Given the description of an element on the screen output the (x, y) to click on. 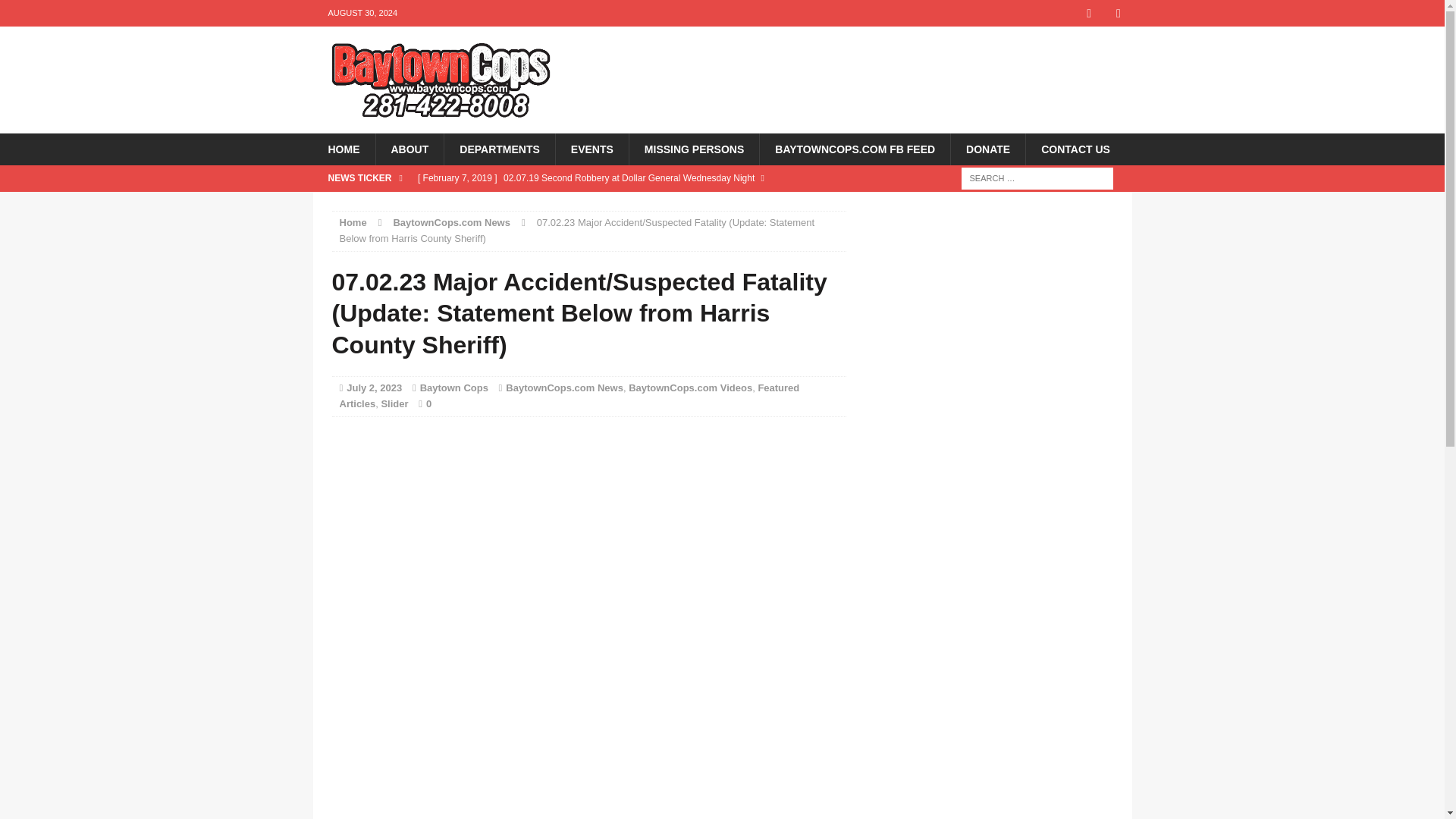
EVENTS (591, 149)
MISSING PERSONS (693, 149)
ABOUT (409, 149)
CONTACT US (1075, 149)
HOME (343, 149)
DONATE (987, 149)
02.07.19  Second Robbery at Dollar General Wednesday Night (627, 191)
DEPARTMENTS (499, 149)
BAYTOWNCOPS.COM FB FEED (854, 149)
